Given the description of an element on the screen output the (x, y) to click on. 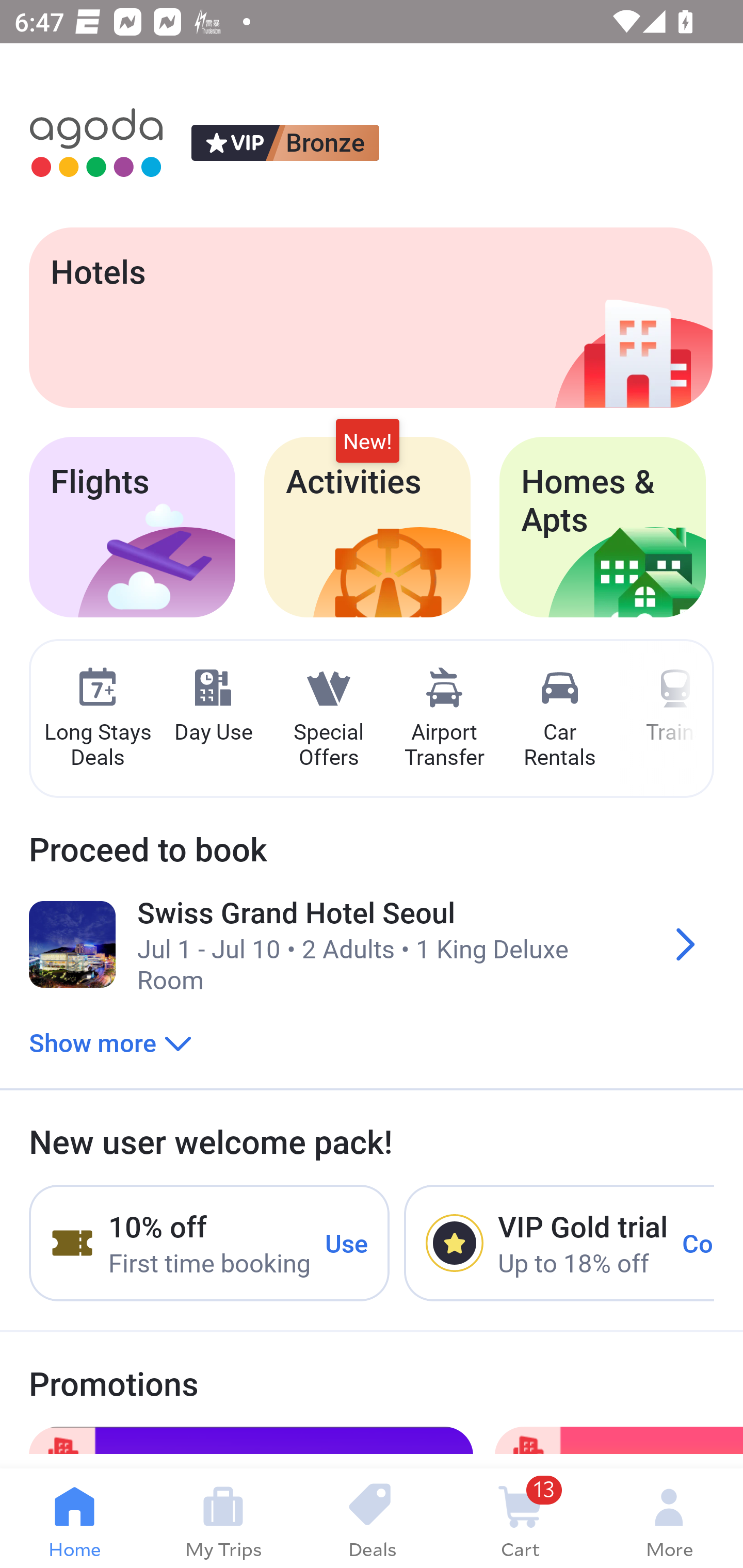
Hotels (370, 317)
New! (367, 441)
Flights (131, 527)
Activities (367, 527)
Homes & Apts (602, 527)
Day Use (213, 706)
Long Stays Deals (97, 718)
Special Offers (328, 718)
Airport Transfer (444, 718)
Car Rentals (559, 718)
Show more (110, 1041)
Use (346, 1242)
Home (74, 1518)
My Trips (222, 1518)
Deals (371, 1518)
13 Cart (519, 1518)
More (668, 1518)
